Given the description of an element on the screen output the (x, y) to click on. 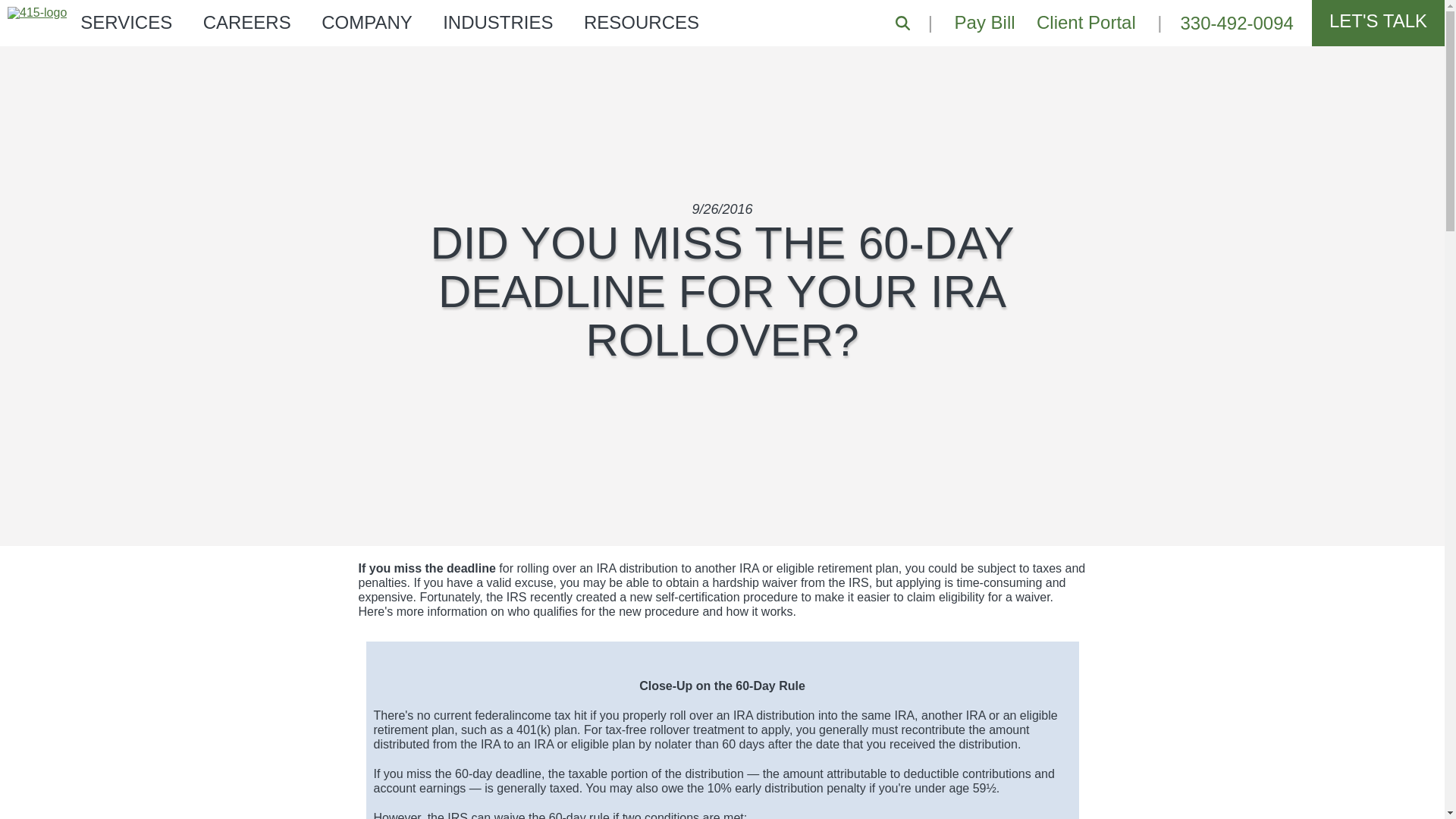
COMPANY (366, 22)
Search (902, 22)
INDUSTRIES (497, 22)
SERVICES (125, 22)
CAREERS (247, 22)
415-logo (36, 12)
